Given the description of an element on the screen output the (x, y) to click on. 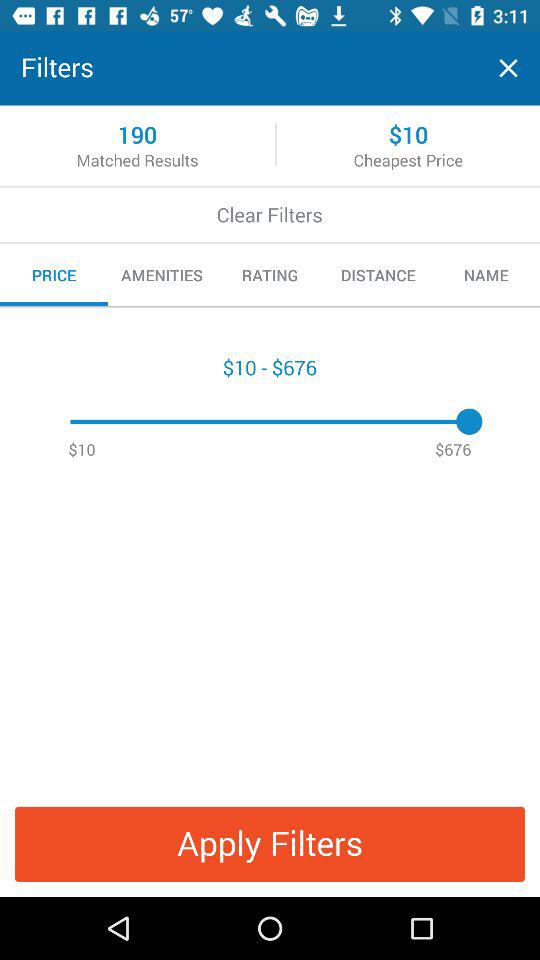
click the icon below $10 item (269, 843)
